Given the description of an element on the screen output the (x, y) to click on. 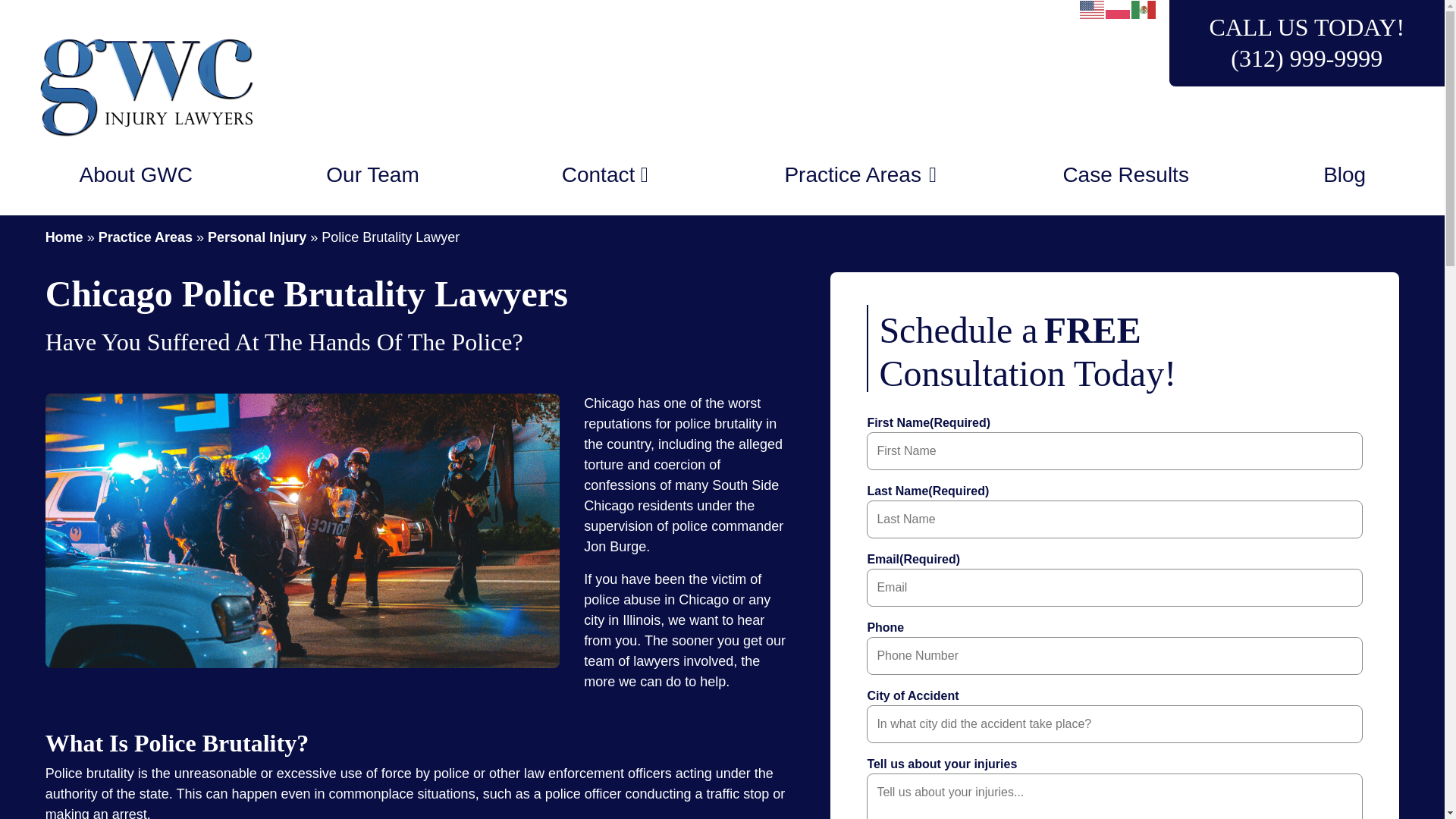
Our Team (372, 175)
Spanish (1144, 8)
Contact (591, 175)
English (1092, 8)
Polish (1118, 8)
About GWC (135, 175)
Our Team (372, 175)
About GWC (135, 175)
